Given the description of an element on the screen output the (x, y) to click on. 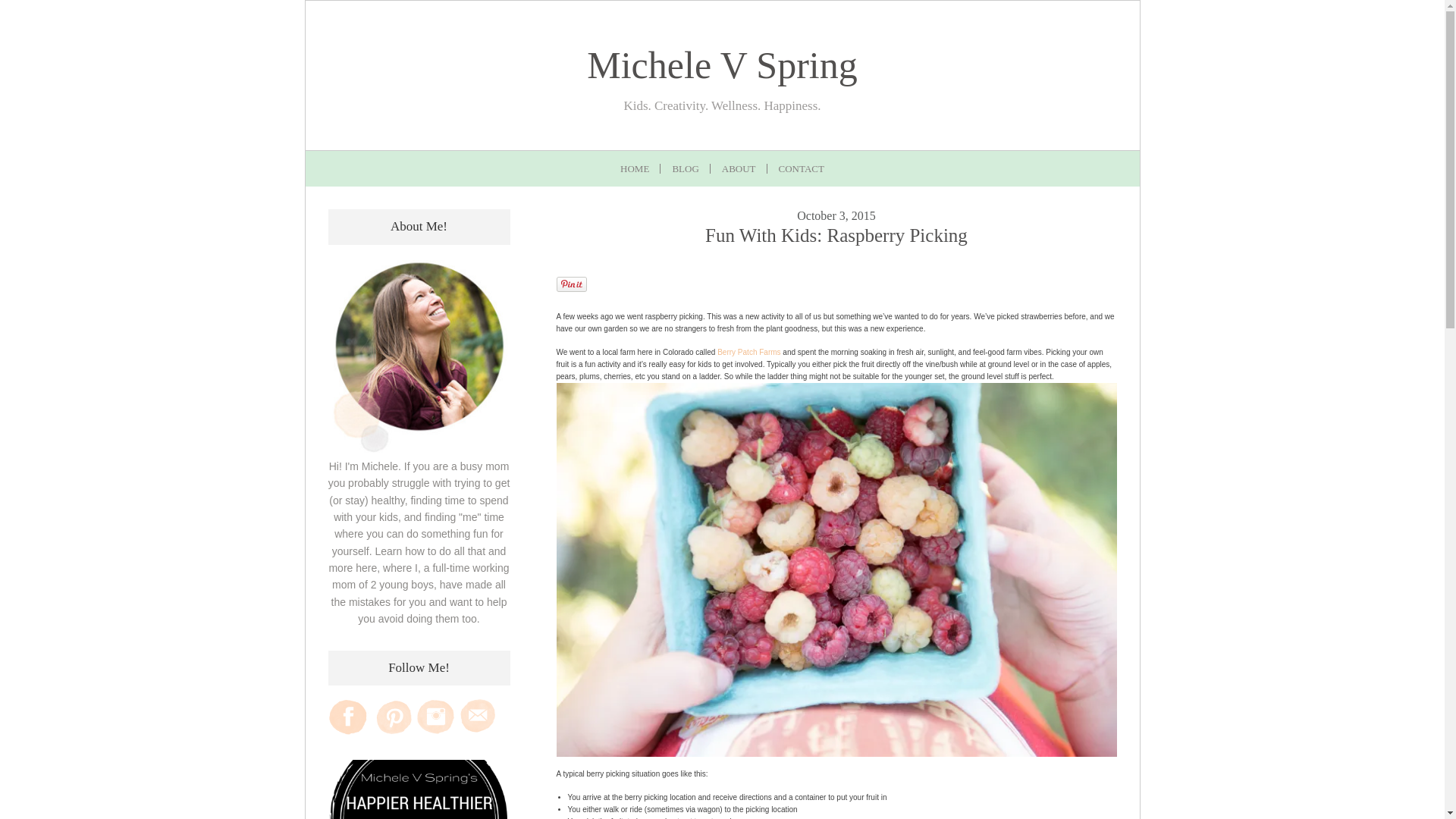
Berry Patch Farms (748, 352)
CONTACT (801, 168)
Pin It (571, 283)
HOME (634, 168)
October 3, 2015 (836, 216)
ABOUT (738, 168)
Michele V Spring (721, 65)
BLOG (685, 168)
